Given the description of an element on the screen output the (x, y) to click on. 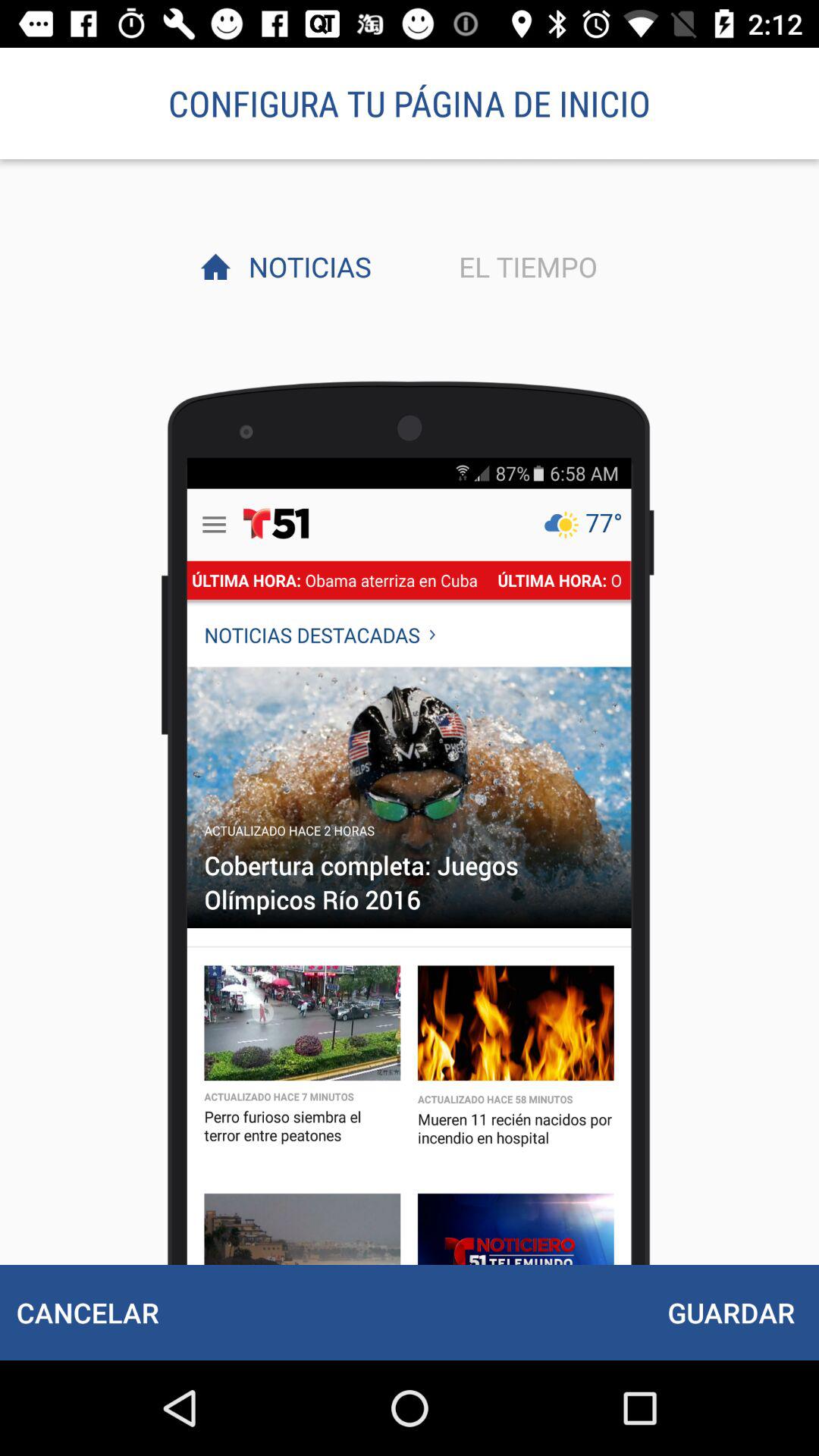
choose the item next to noticias item (524, 266)
